Given the description of an element on the screen output the (x, y) to click on. 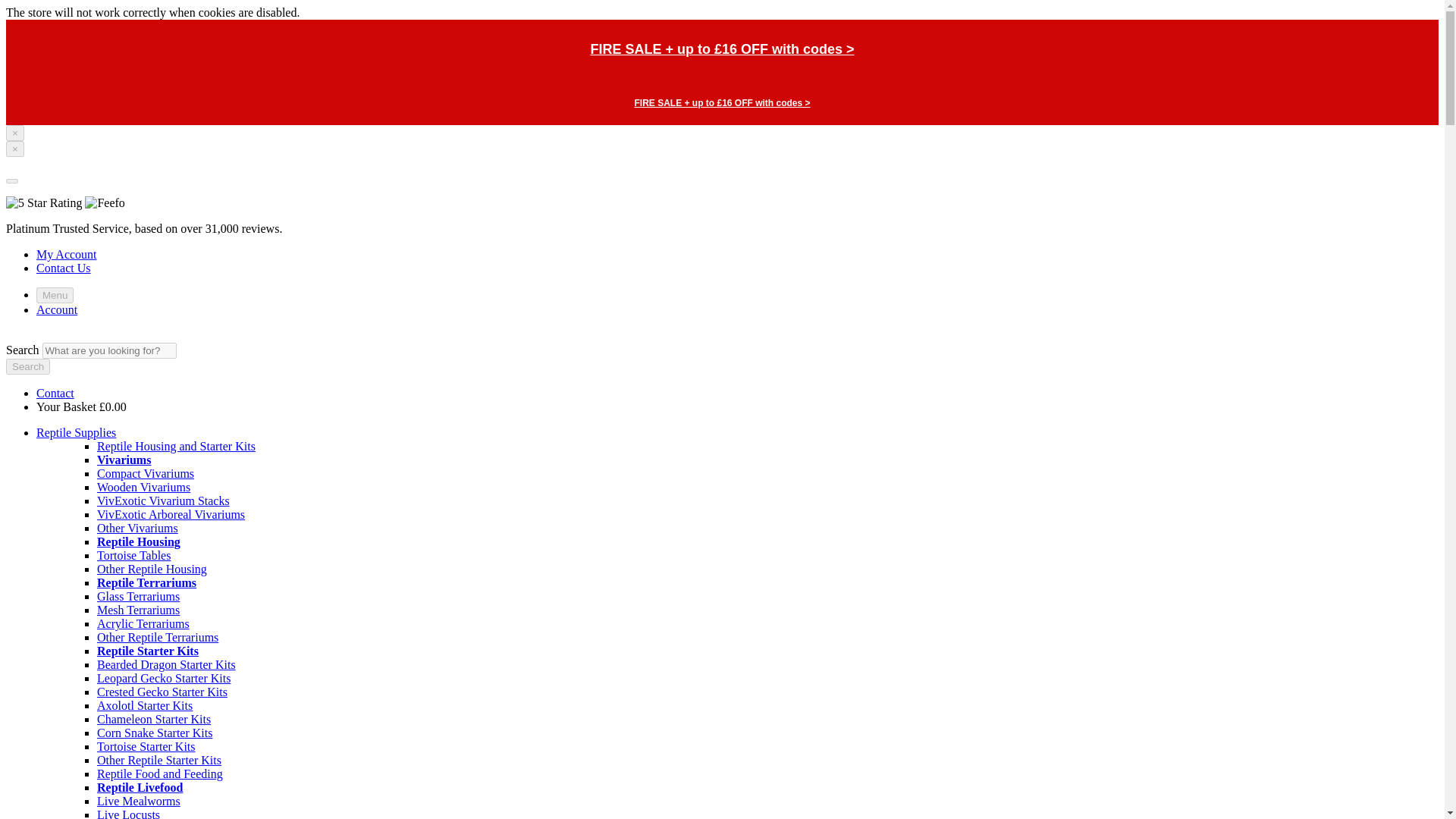
Mesh Terrariums (138, 609)
Reptile Starter Kits (147, 650)
Other Reptile Housing (151, 568)
Account (56, 309)
Other Reptile Starter Kits (159, 759)
Compact Vivariums (145, 472)
Other Reptile Terrariums (157, 636)
Reptile Housing (138, 541)
VivExotic Vivarium Stacks (163, 500)
Crested Gecko Starter Kits (162, 691)
Bearded Dragon Starter Kits (166, 664)
Wooden Vivariums (143, 486)
Chameleon Starter Kits (154, 718)
Leopard Gecko Starter Kits (163, 677)
Contact Us (63, 267)
